Given the description of an element on the screen output the (x, y) to click on. 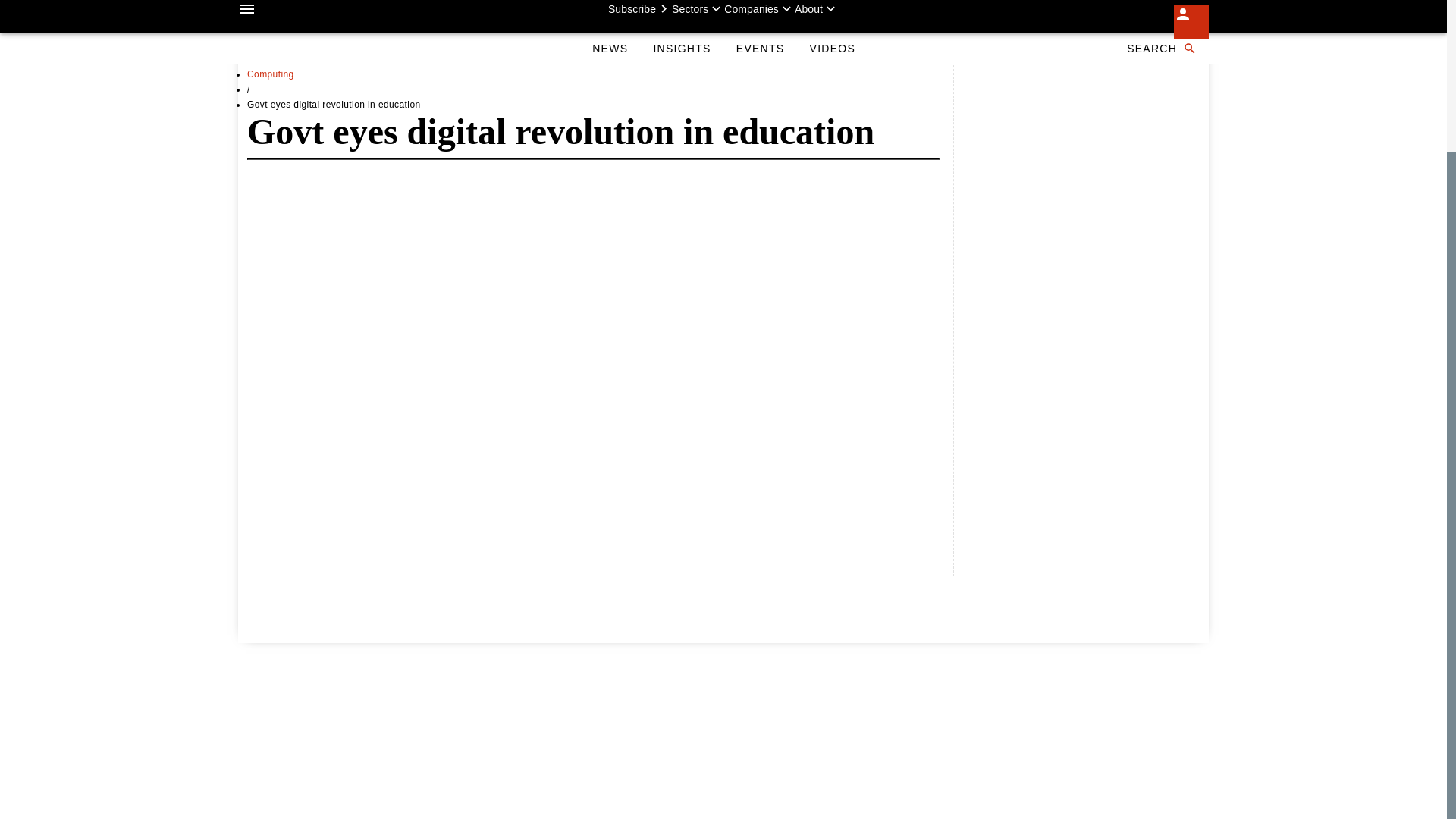
SEARCH (1160, 23)
Home (260, 43)
NEWS (609, 22)
VIDEOS (831, 22)
INSIGHTS (681, 22)
Computing (270, 73)
EVENTS (759, 22)
